Given the description of an element on the screen output the (x, y) to click on. 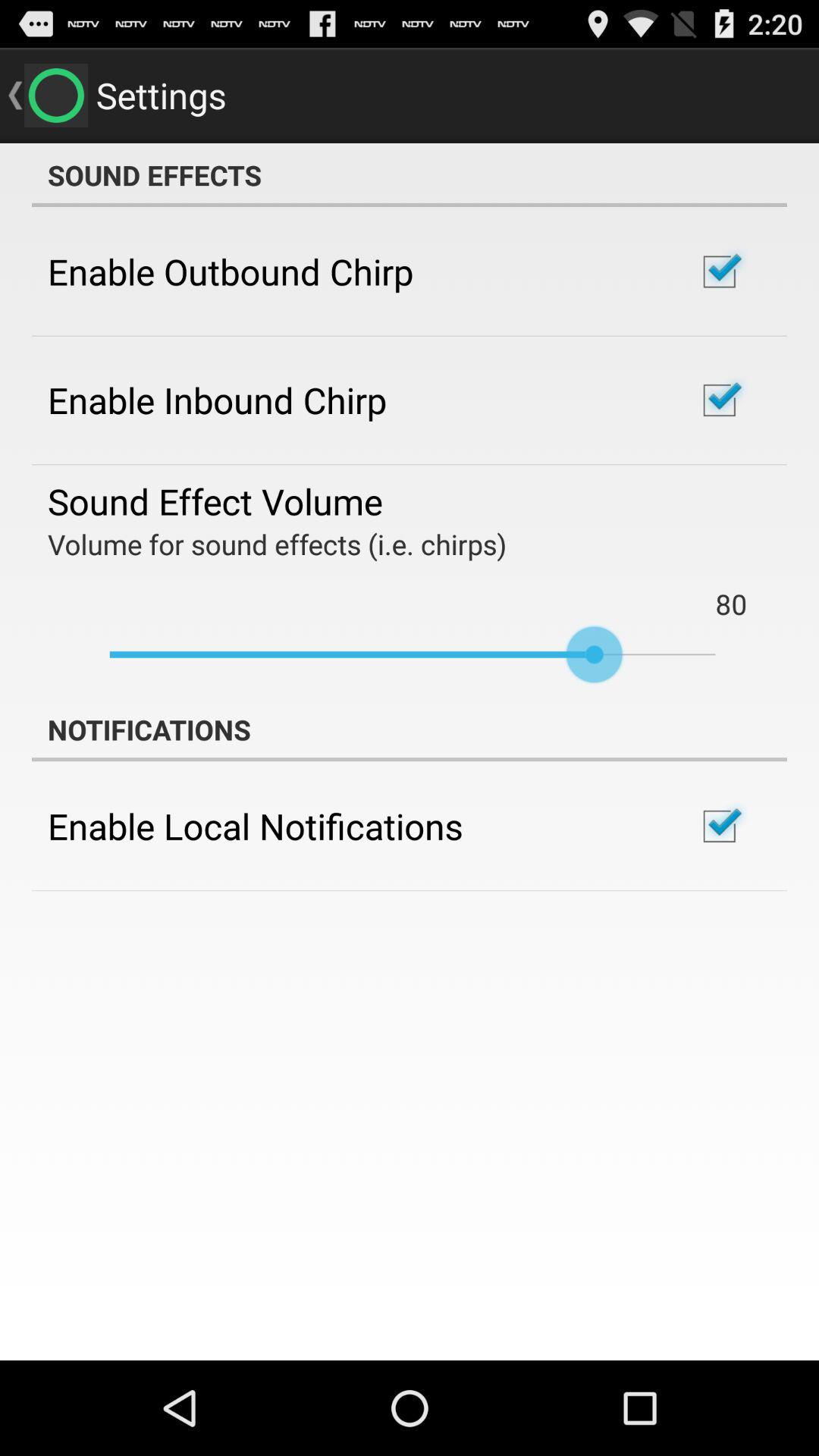
click 80 (731, 603)
